Given the description of an element on the screen output the (x, y) to click on. 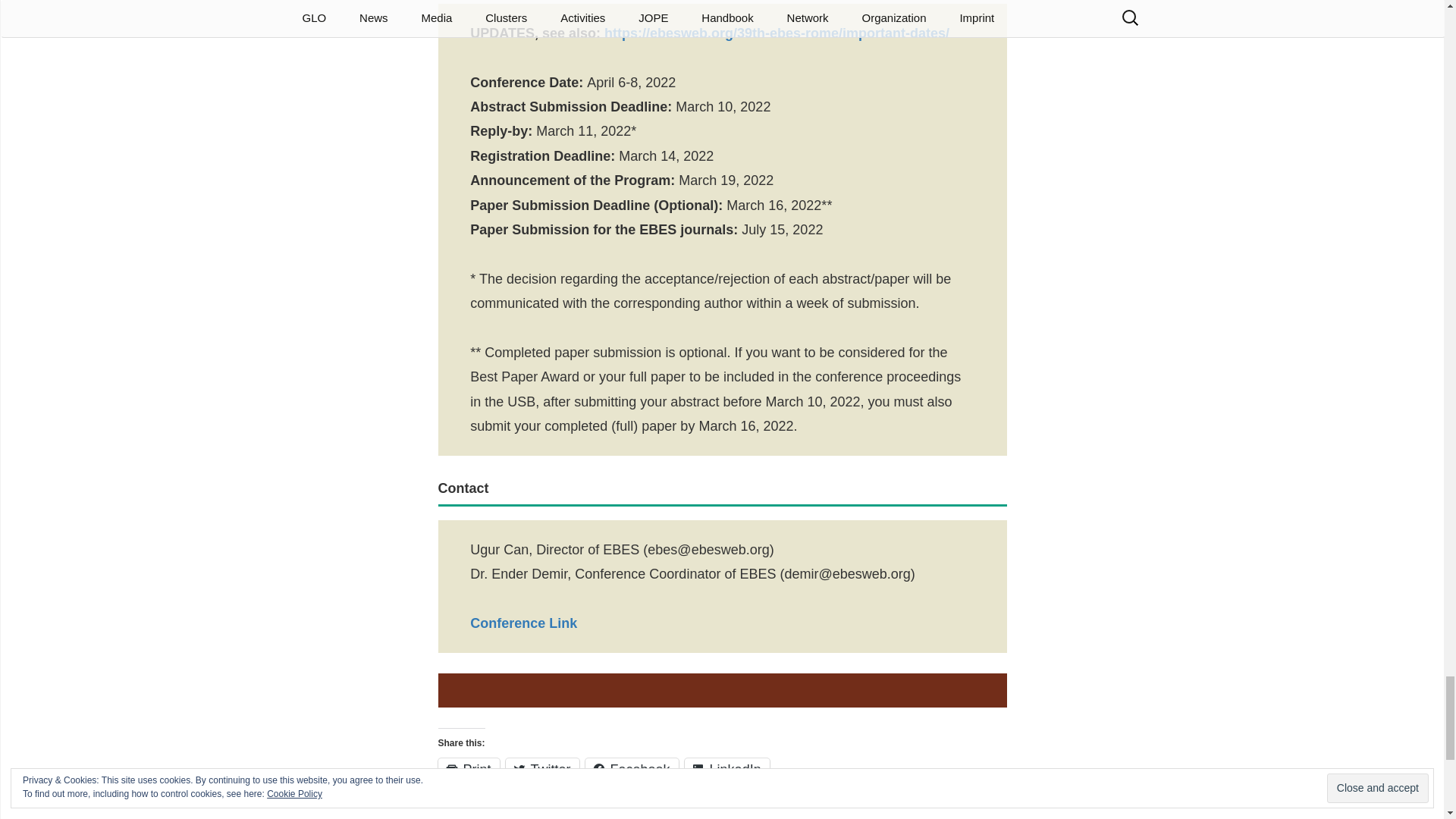
Click to share on Twitter (542, 770)
Click to share on LinkedIn (727, 770)
Click to print (468, 770)
Click to share on Facebook (631, 770)
